Given the description of an element on the screen output the (x, y) to click on. 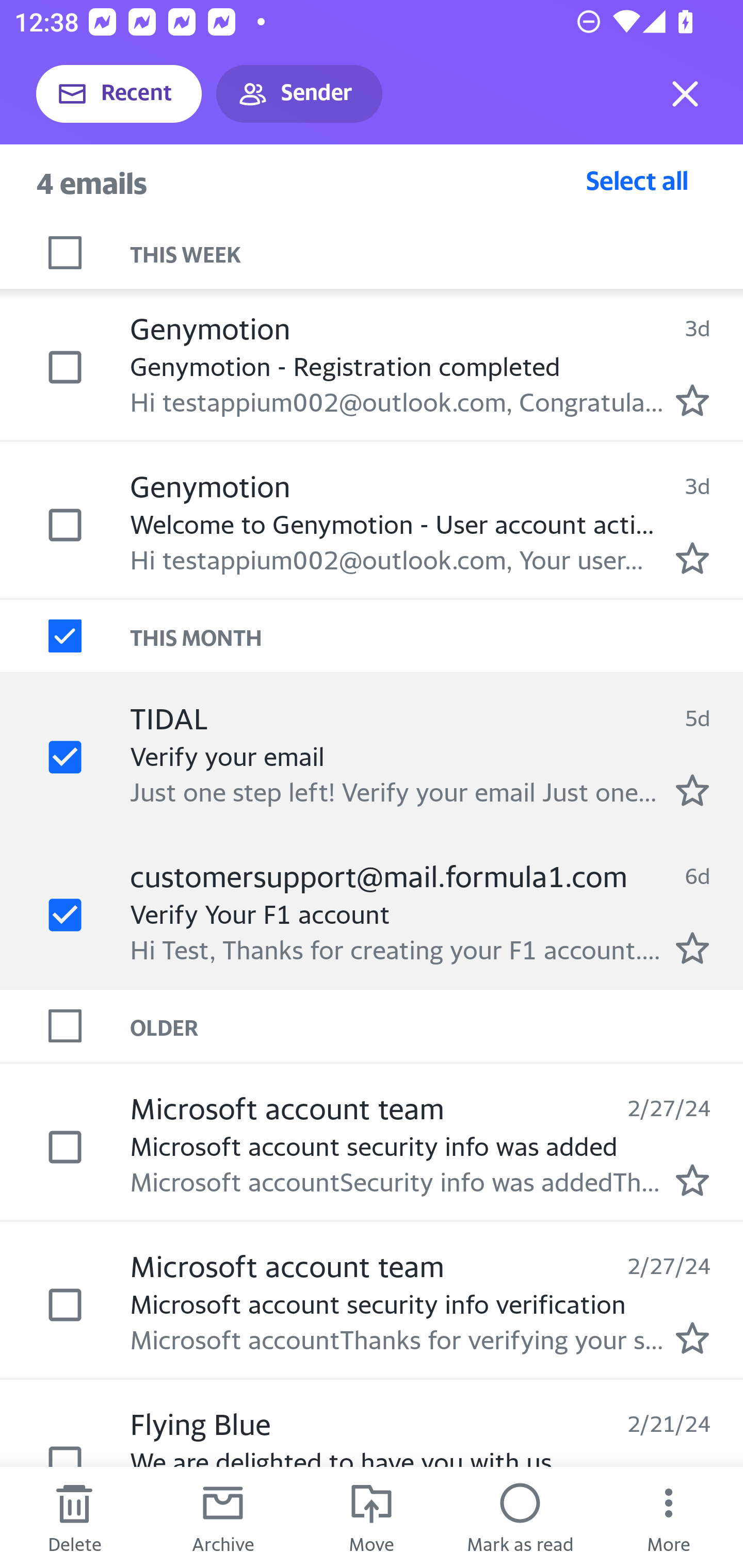
Sender (299, 93)
Exit selection mode (684, 93)
Select all (637, 180)
Mark as starred. (692, 400)
Mark as starred. (692, 557)
THIS MONTH (436, 635)
Mark as starred. (692, 789)
Mark as starred. (692, 947)
OLDER (436, 1025)
Mark as starred. (692, 1179)
Mark as starred. (692, 1338)
Delete (74, 1517)
Archive (222, 1517)
Move (371, 1517)
Mark as read (519, 1517)
More (668, 1517)
